Given the description of an element on the screen output the (x, y) to click on. 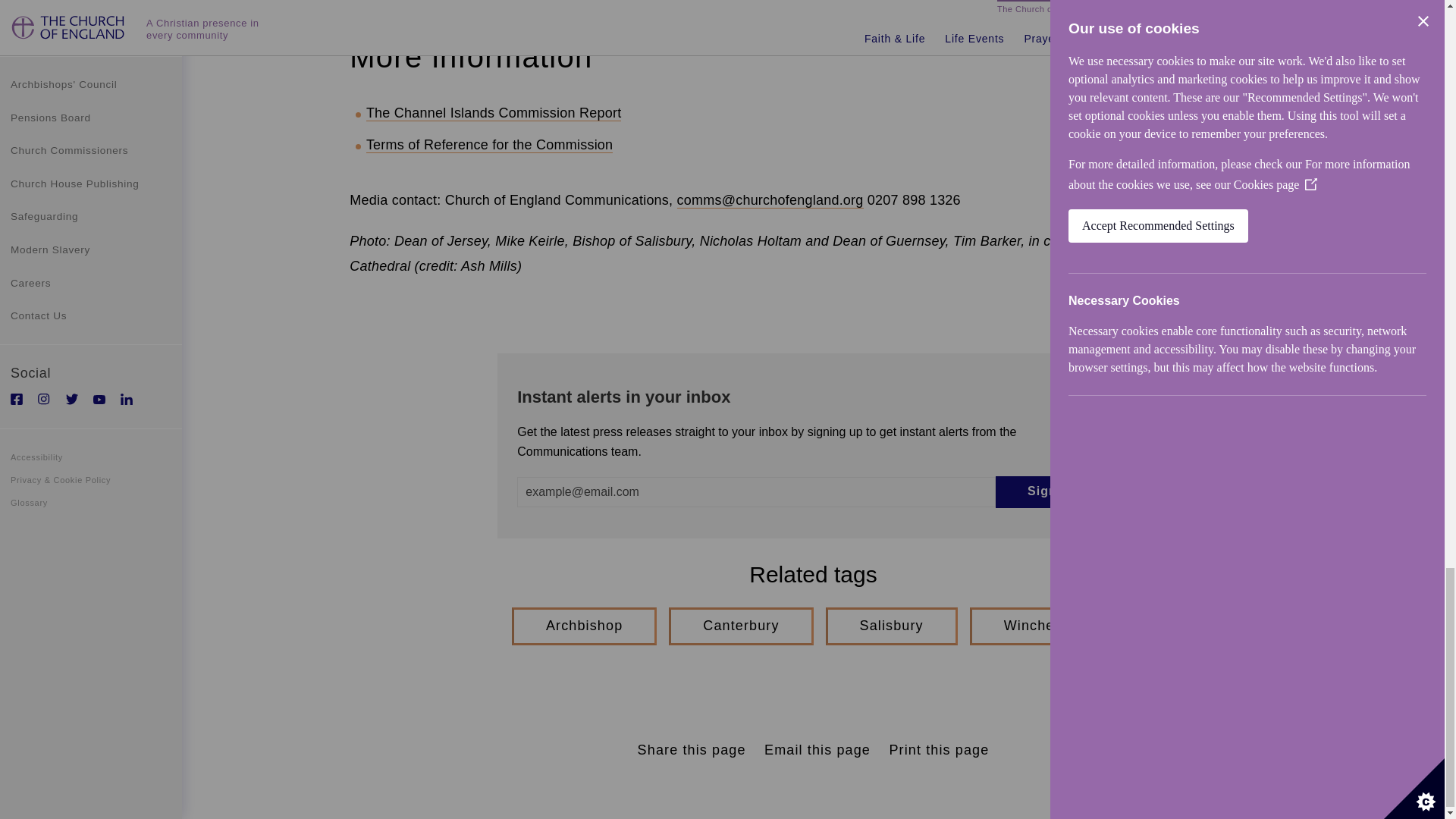
Sign up (1052, 491)
